Given the description of an element on the screen output the (x, y) to click on. 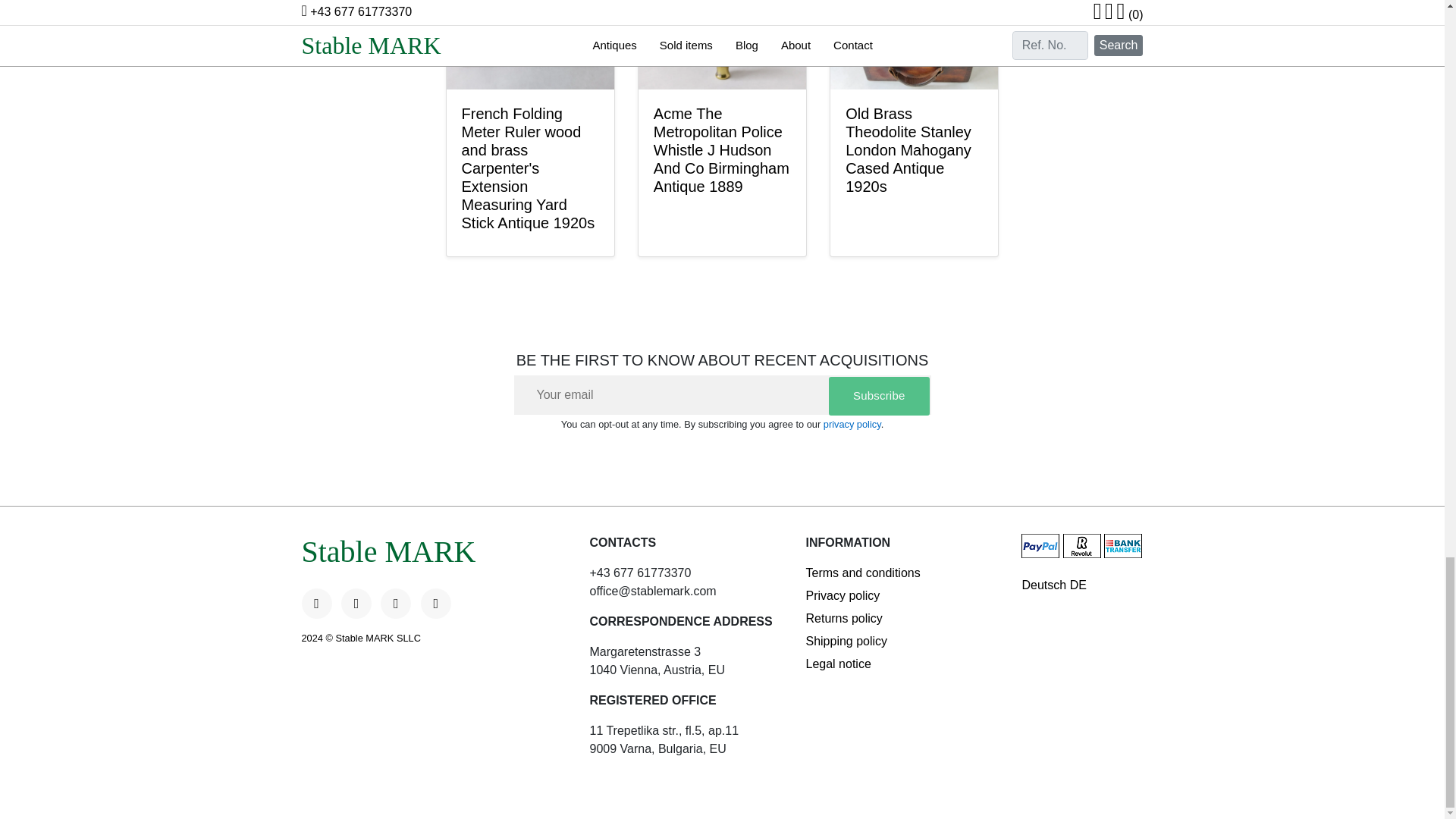
To privacy policy page (852, 423)
Subscribe (879, 395)
privacy policy (852, 423)
Zur Deutsche Version (1082, 585)
